Given the description of an element on the screen output the (x, y) to click on. 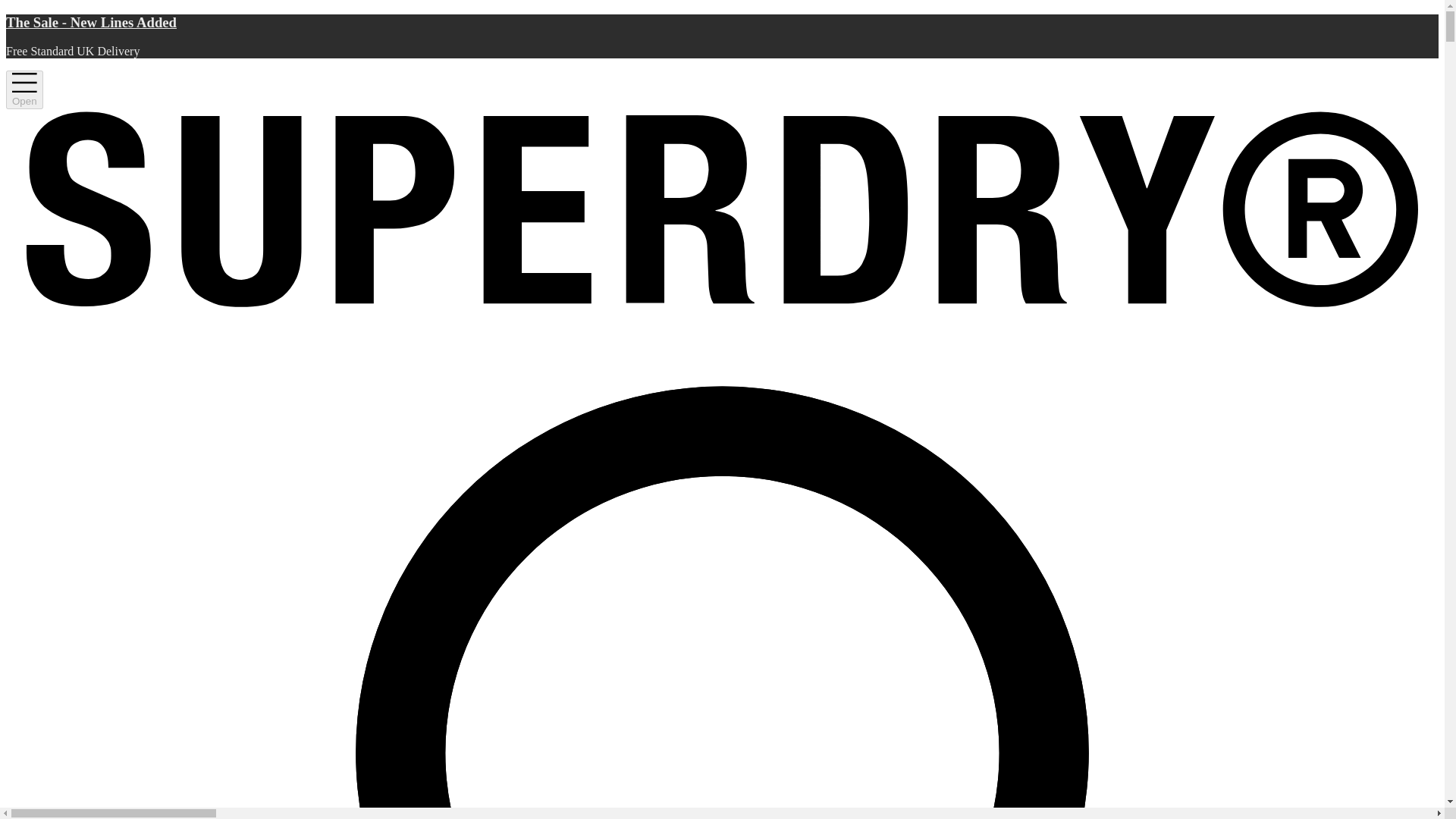
Star (882, 317)
Star (864, 317)
0 items in your basket (1409, 107)
My Account (1362, 107)
Reset (1409, 107)
Add to wish list (1413, 160)
Wish List (1210, 517)
Wish List (1385, 107)
Next (1385, 107)
